Given the description of an element on the screen output the (x, y) to click on. 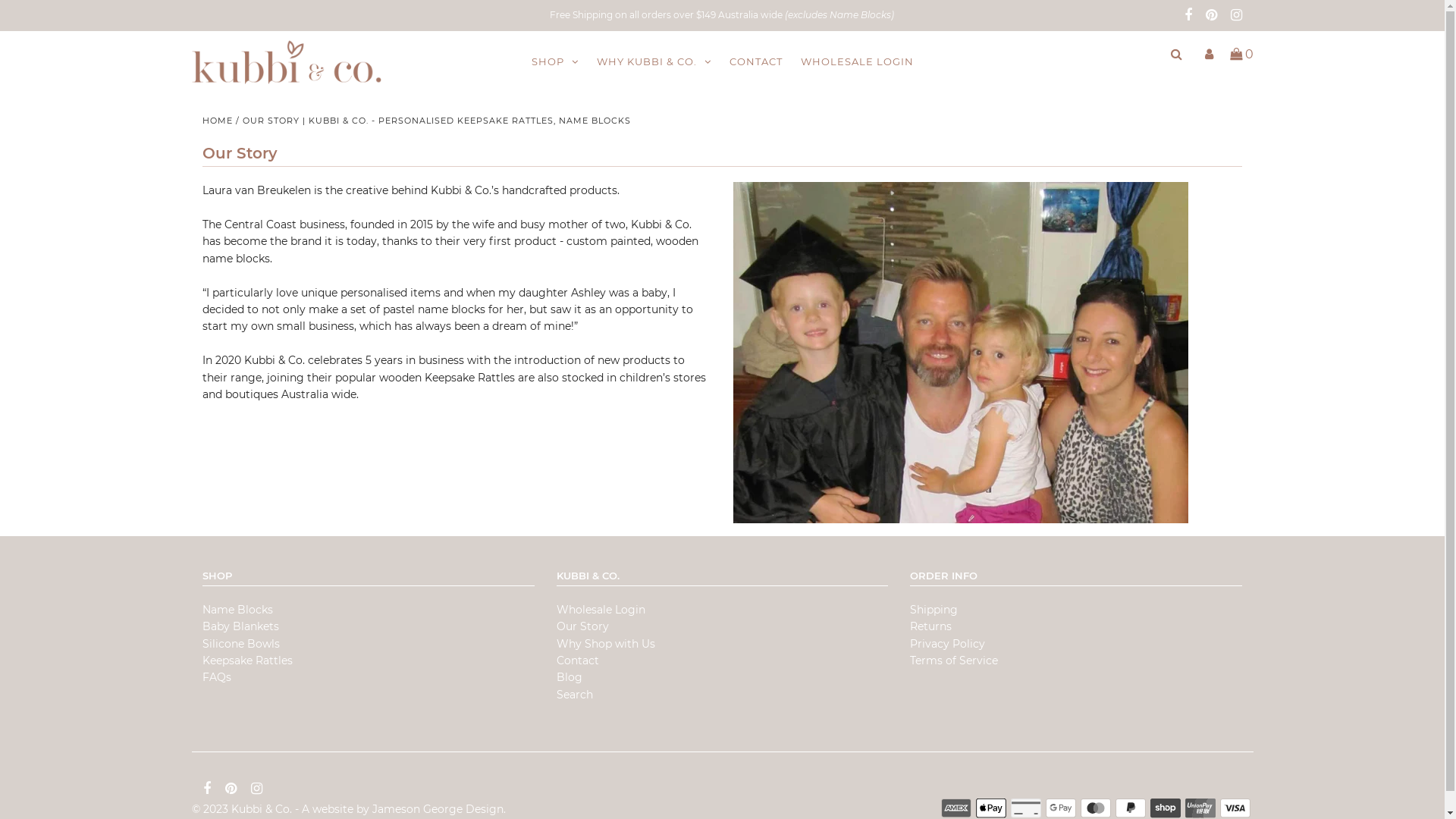
Contact Element type: text (577, 660)
Terms of Service Element type: text (953, 660)
Why Shop with Us Element type: text (605, 643)
Privacy Policy Element type: text (947, 643)
Returns Element type: text (930, 626)
FAQs Element type: text (216, 677)
0 Element type: text (1238, 54)
Blog Element type: text (569, 677)
CONTACT Element type: text (755, 61)
Baby Blankets Element type: text (240, 626)
Our Story Element type: text (582, 626)
Keepsake Rattles Element type: text (247, 660)
Jameson George Design Element type: text (436, 808)
WHY KUBBI & CO. Element type: text (653, 61)
Wholesale Login Element type: text (600, 609)
WHOLESALE LOGIN Element type: text (857, 61)
Silicone Bowls Element type: text (240, 643)
Shipping Element type: text (933, 609)
Name Blocks Element type: text (237, 609)
Search Element type: text (574, 694)
SHOP Element type: text (554, 61)
HOME Element type: text (217, 120)
